Given the description of an element on the screen output the (x, y) to click on. 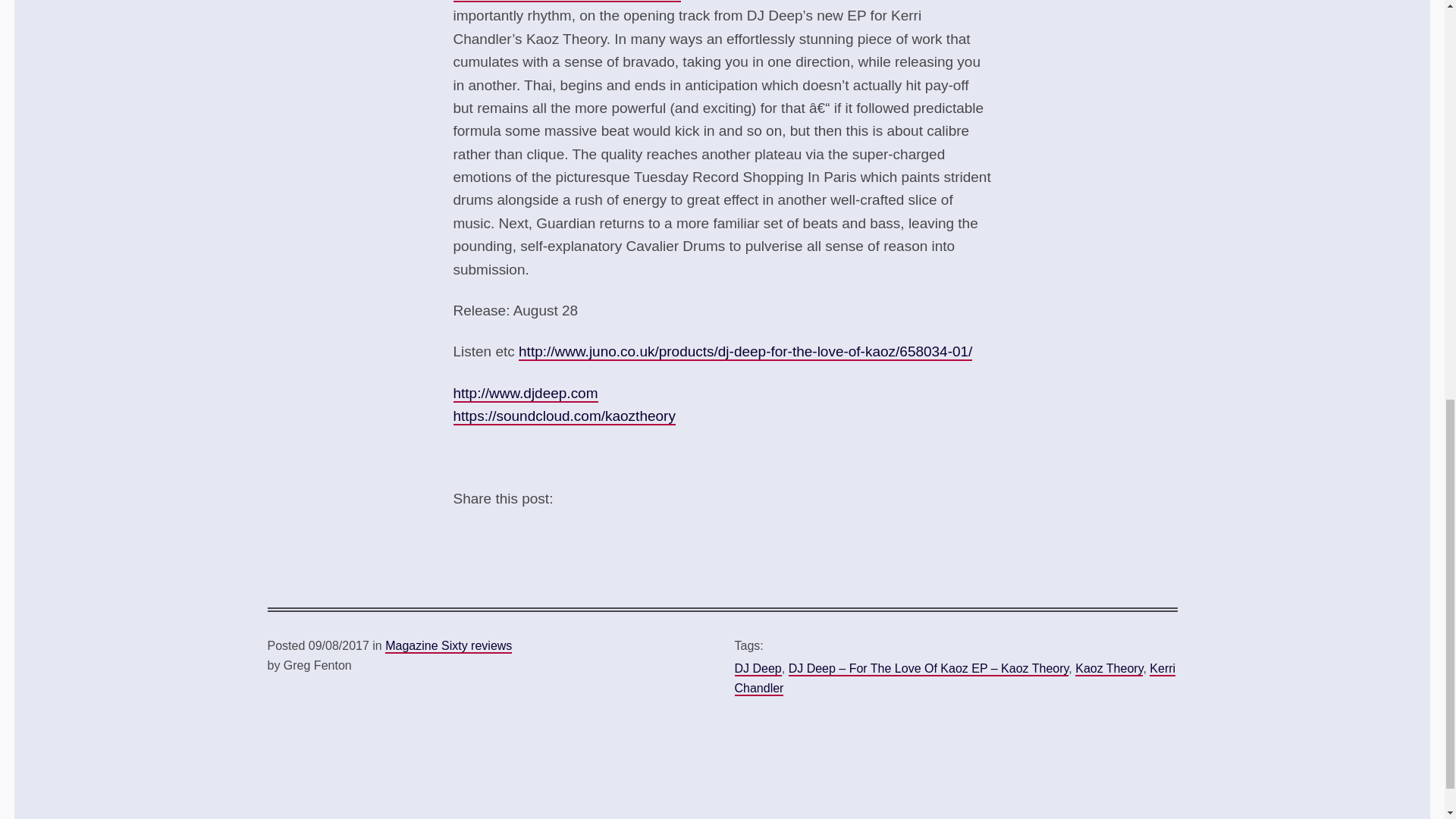
Kaoz Theory (1108, 668)
Kerri Chandler (953, 678)
Magazine Sixty reviews (448, 646)
DJ Deep (756, 668)
